Given the description of an element on the screen output the (x, y) to click on. 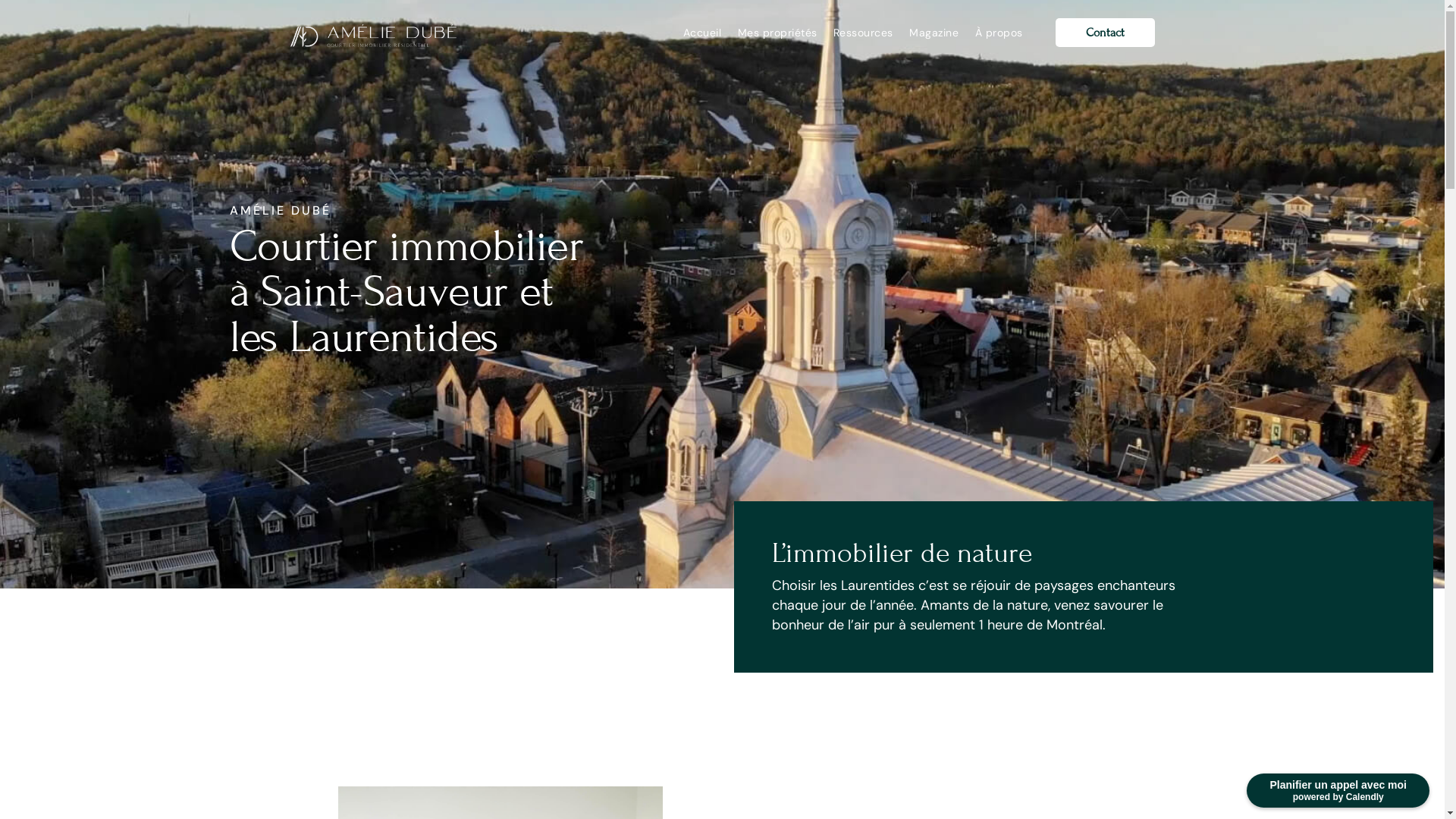
Ressources Element type: text (863, 32)
Accueil Element type: text (702, 32)
Magazine Element type: text (933, 32)
Contact Element type: text (1104, 32)
